Given the description of an element on the screen output the (x, y) to click on. 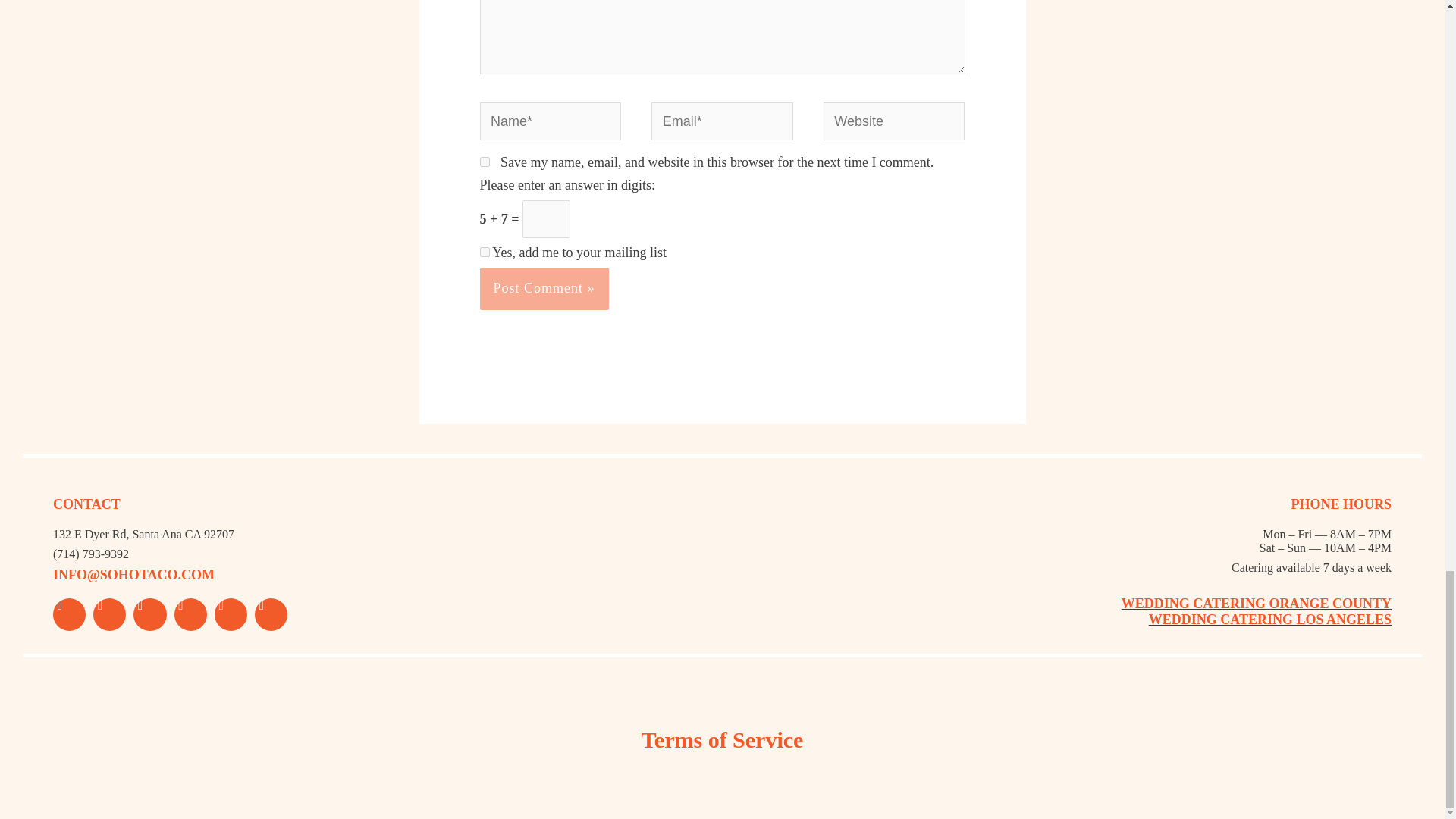
yes (484, 162)
1 (484, 252)
